Given the description of an element on the screen output the (x, y) to click on. 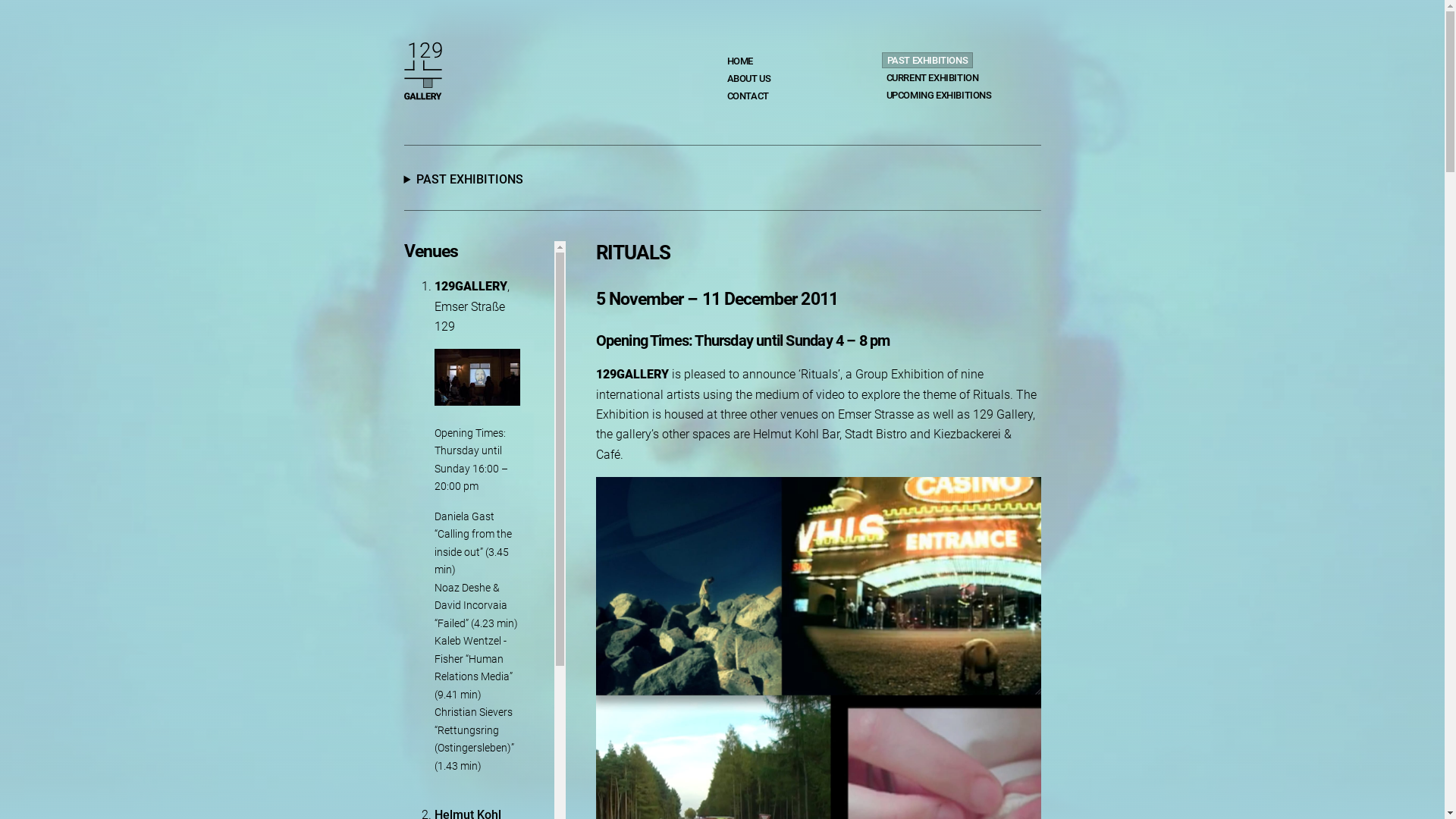
129GALLERY Element type: text (422, 79)
CURRENT EXHIBITION Element type: text (931, 77)
PAST EXHIBITIONS Element type: text (926, 60)
ABOUT US Element type: text (748, 78)
UPCOMING EXHIBITIONS Element type: text (938, 94)
CONTACT Element type: text (746, 95)
HOME Element type: text (738, 60)
